Given the description of an element on the screen output the (x, y) to click on. 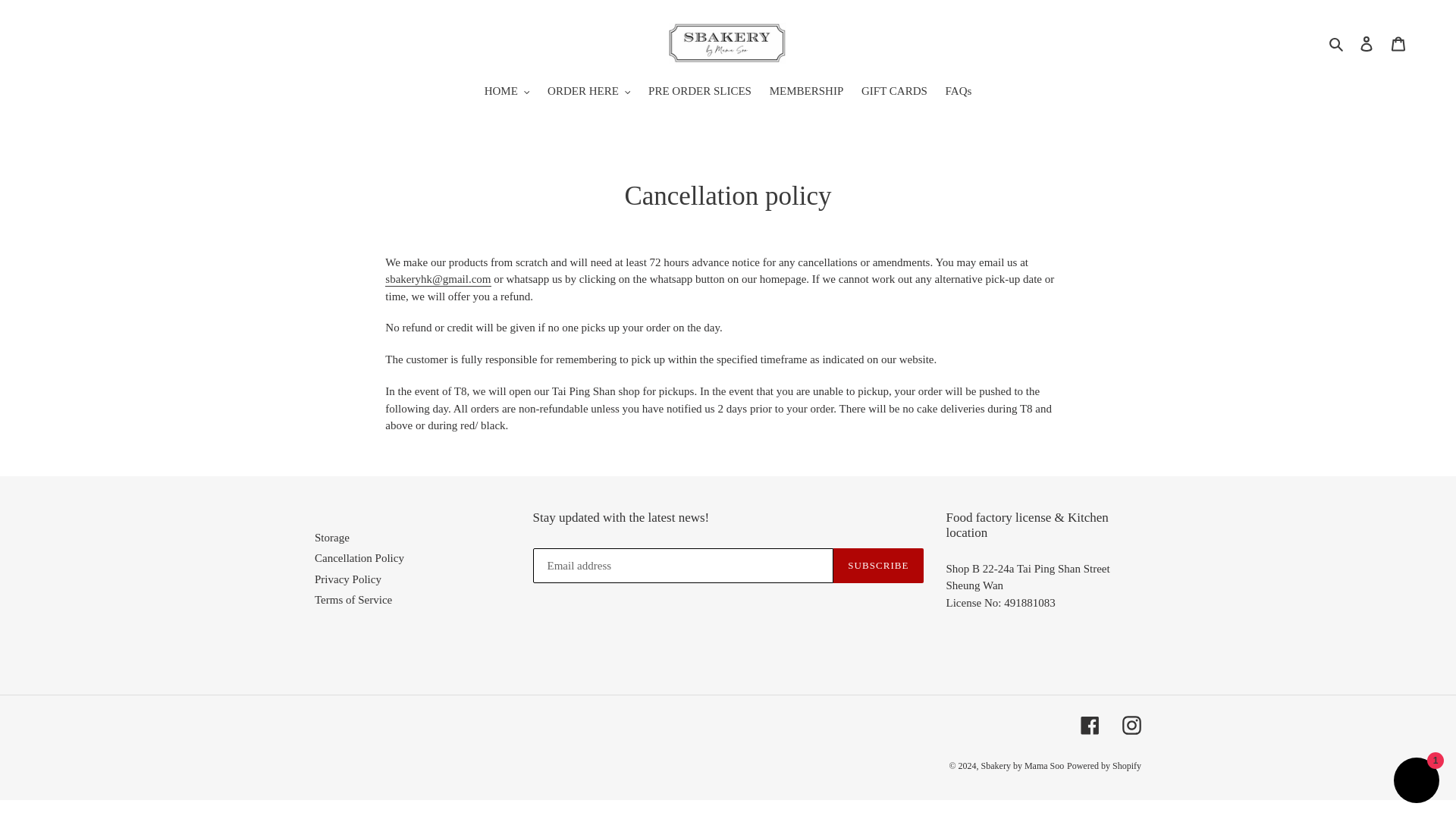
FAQs (958, 92)
Cart (1397, 43)
Search (1337, 43)
ORDER HERE (588, 92)
HOME (507, 92)
PRE ORDER SLICES (699, 92)
MEMBERSHIP (806, 92)
GIFT CARDS (893, 92)
Log in (1366, 43)
